Given the description of an element on the screen output the (x, y) to click on. 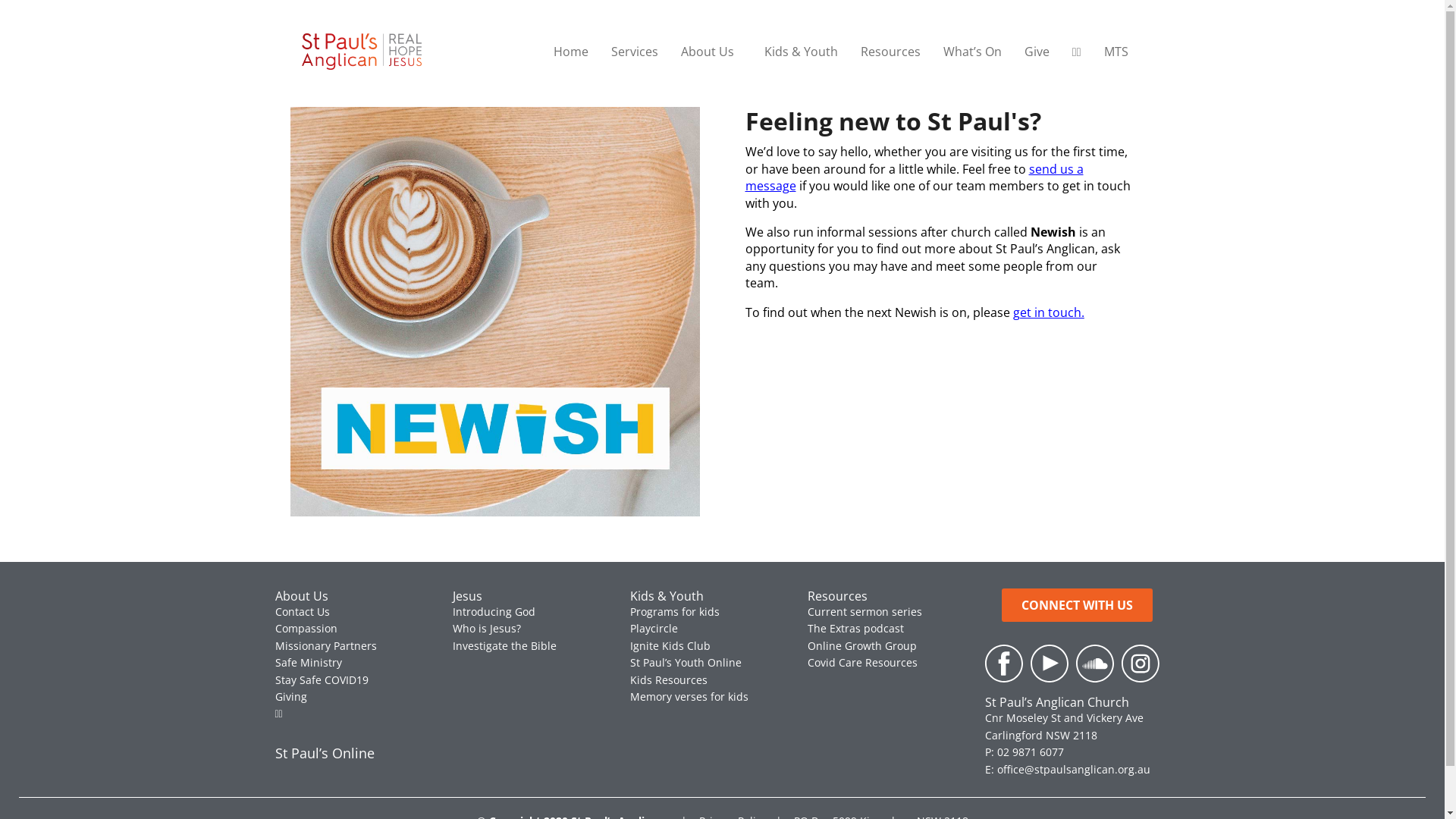
Covid Care Resources Element type: text (861, 662)
Who is Jesus? Element type: text (485, 628)
Investigate the Bible Element type: text (503, 645)
Services Element type: text (634, 51)
About Us Element type: text (711, 51)
Introducing God Element type: text (492, 611)
Giving Element type: text (290, 696)
Resources Element type: text (890, 51)
Kids & Youth Element type: text (801, 51)
Home Element type: text (570, 51)
Playcircle Element type: text (653, 628)
About Us Element type: text (300, 595)
Kids & Youth Element type: text (665, 595)
Safe Ministry Element type: text (307, 662)
Give Element type: text (1036, 51)
The Extras podcast Element type: text (854, 628)
Jesus Element type: text (466, 595)
Kids Resources Element type: text (667, 679)
Contact Us Element type: text (301, 611)
Programs for kids Element type: text (673, 611)
Missionary Partners Element type: text (325, 645)
Online Growth Group Element type: text (861, 645)
get in touch. Element type: text (1048, 312)
Stay Safe COVID19 Element type: text (320, 679)
Compassion Element type: text (305, 628)
CONNECT WITH US Element type: text (1076, 604)
Current sermon series Element type: text (863, 611)
Ignite Kids Club Element type: text (669, 645)
send us a message Element type: text (913, 177)
Resources Element type: text (836, 595)
Memory verses for kids Element type: text (688, 696)
MTS Element type: text (1115, 51)
